Given the description of an element on the screen output the (x, y) to click on. 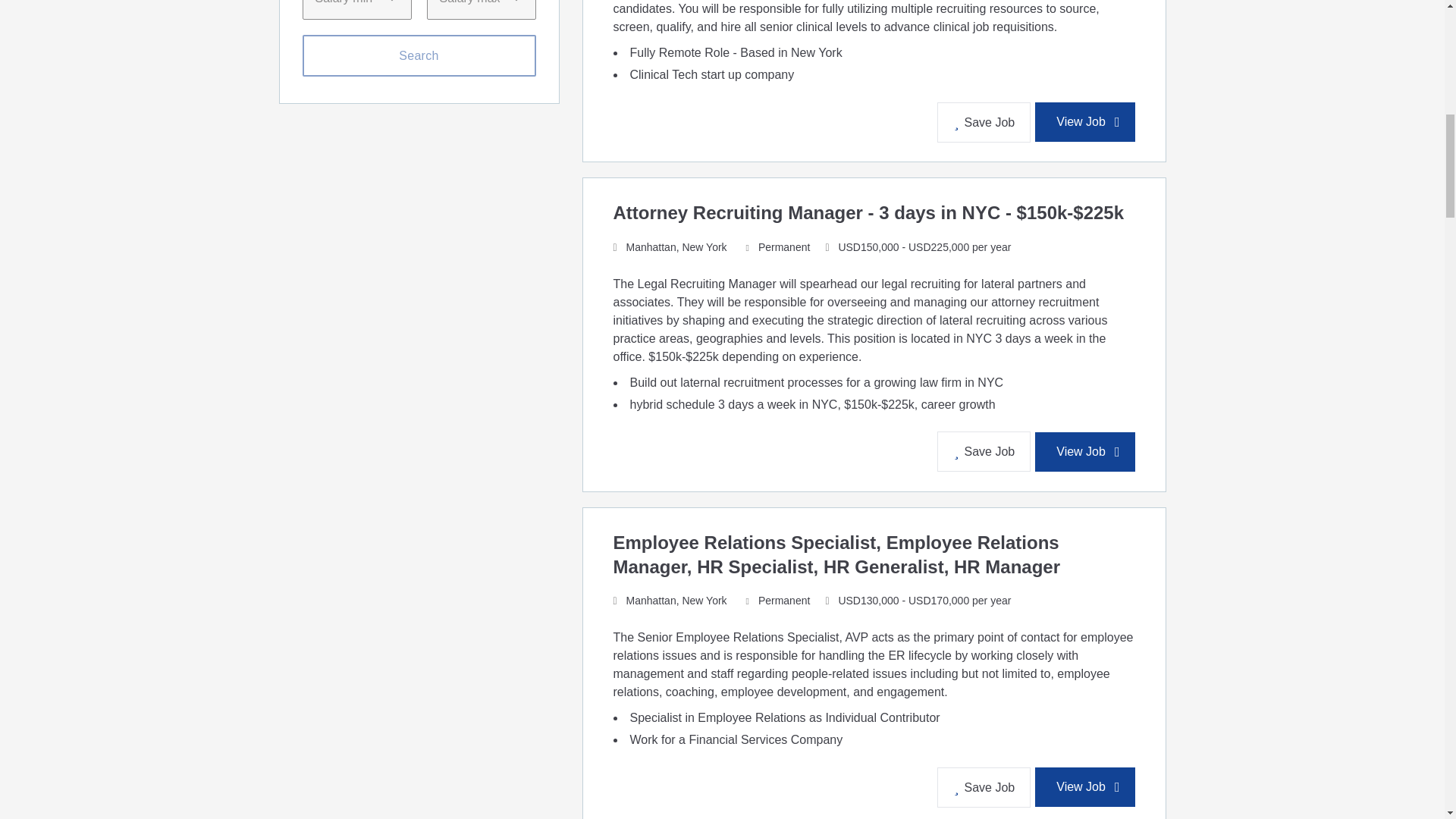
Search (418, 55)
